Given the description of an element on the screen output the (x, y) to click on. 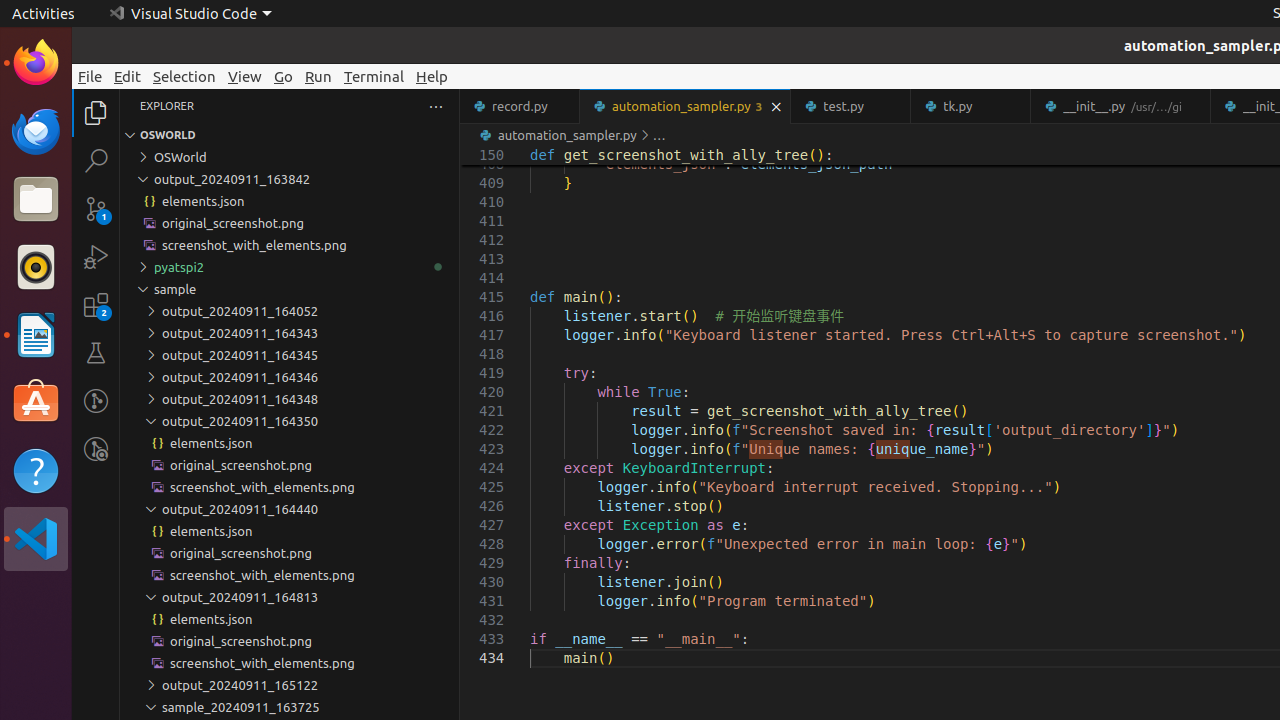
output_20240911_164813 Element type: tree-item (289, 597)
Run and Debug (Ctrl+Shift+D) Element type: page-tab (96, 257)
pyatspi2 Element type: tree-item (289, 267)
output_20240911_163842 Element type: tree-item (289, 179)
